Given the description of an element on the screen output the (x, y) to click on. 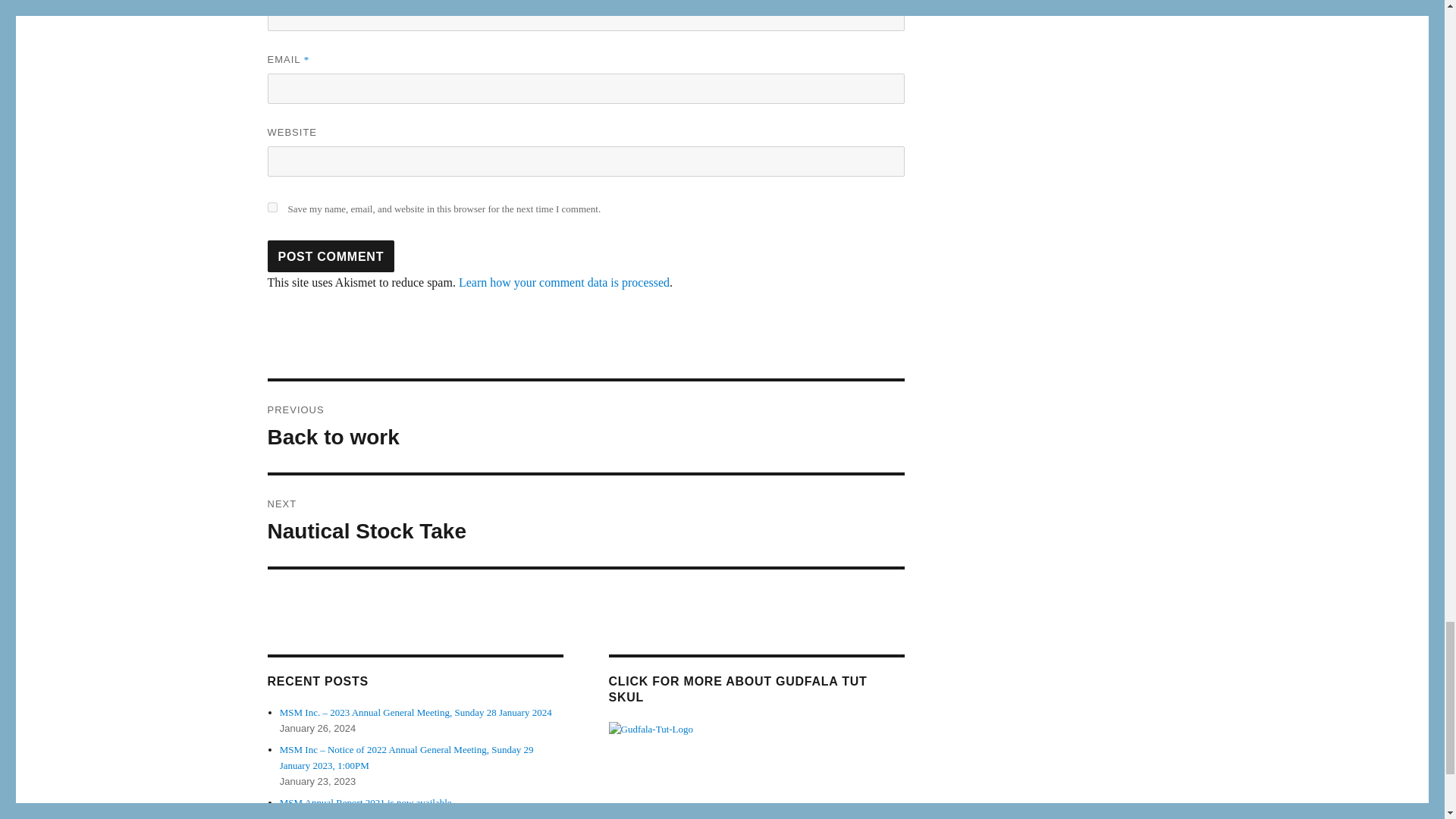
Post Comment (330, 255)
yes (271, 207)
